Given the description of an element on the screen output the (x, y) to click on. 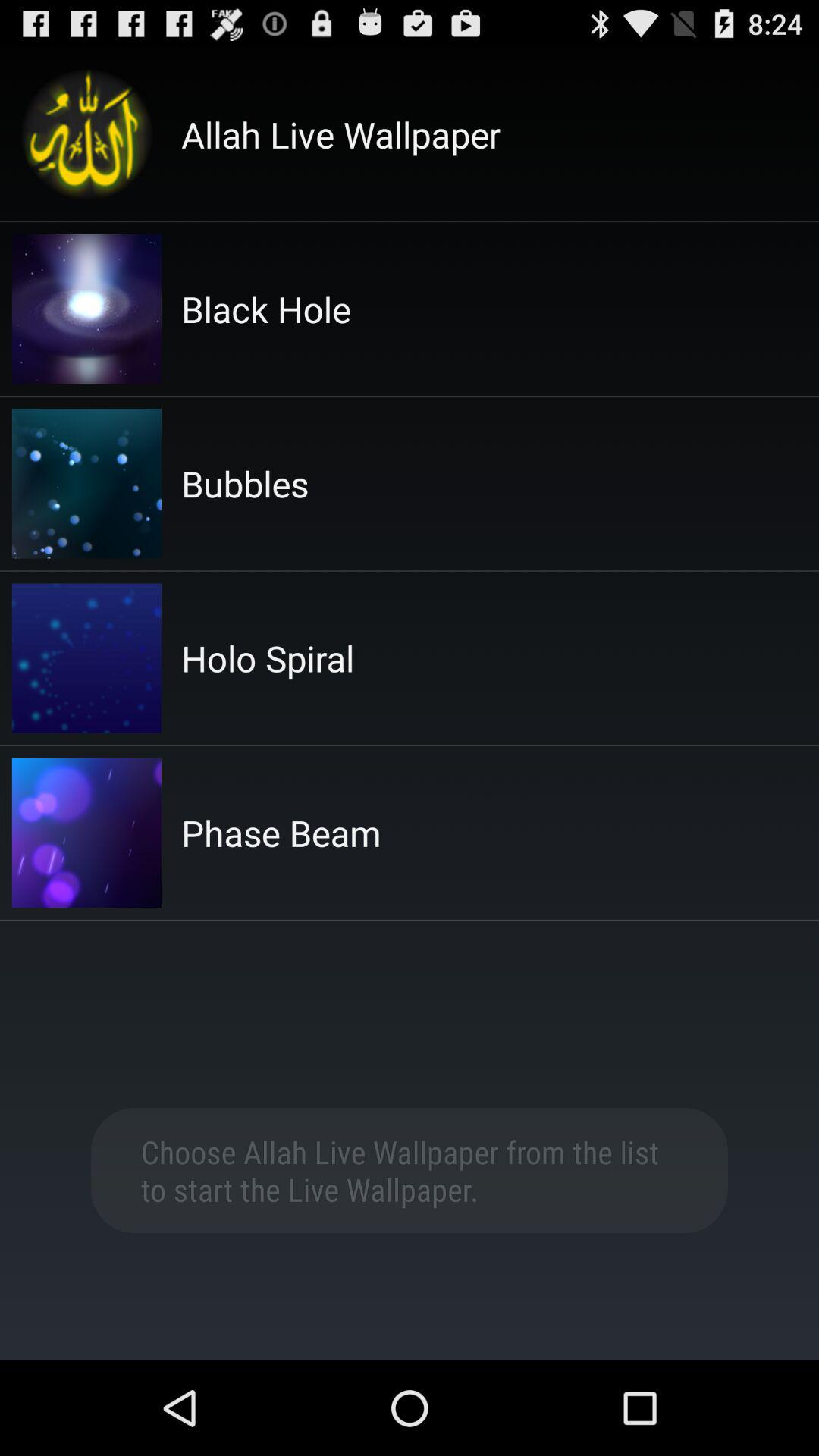
launch app above the holo spiral (244, 483)
